Given the description of an element on the screen output the (x, y) to click on. 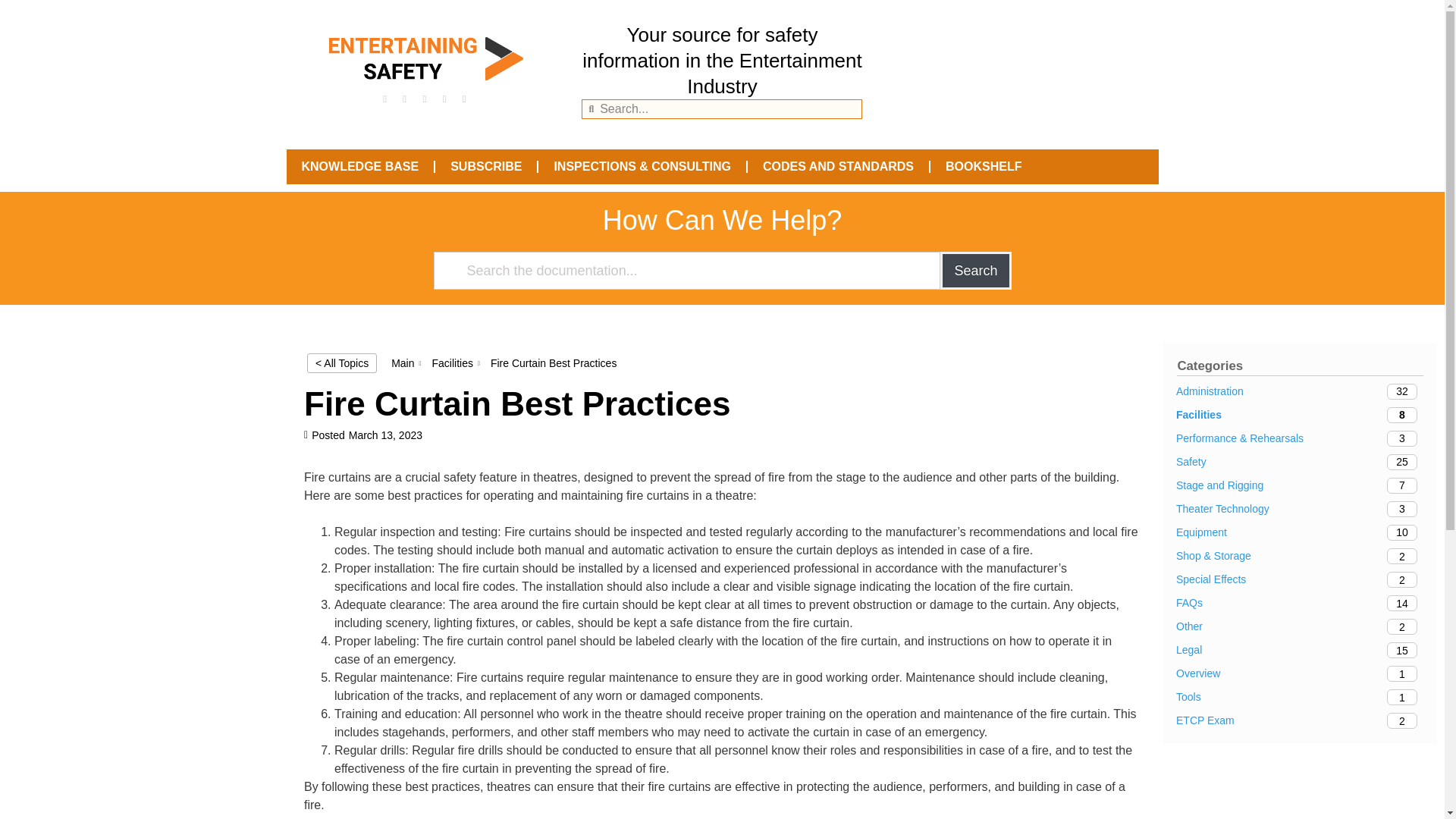
Main (1299, 720)
Facilities (1299, 697)
